Given the description of an element on the screen output the (x, y) to click on. 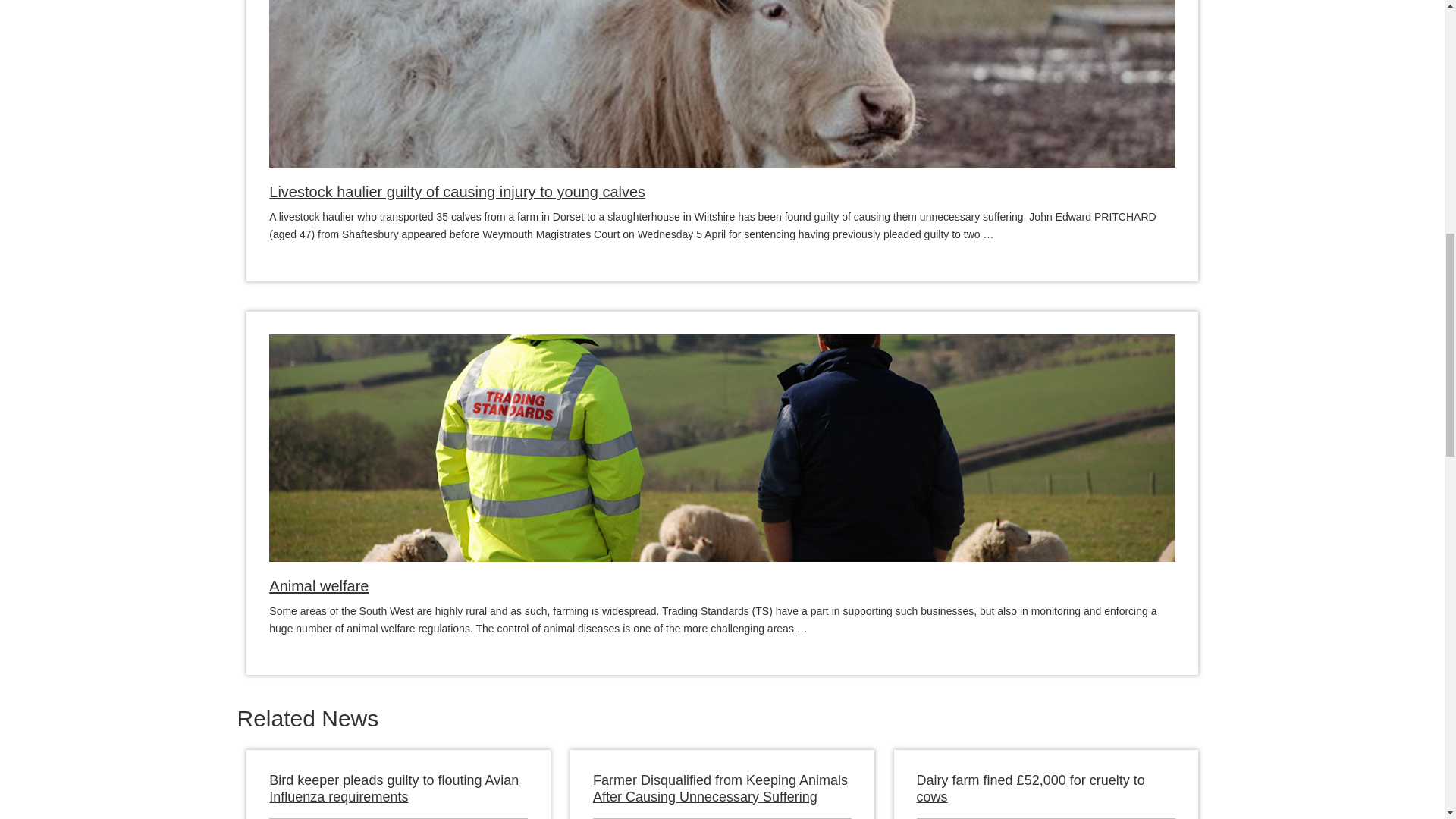
Livestock haulier guilty of causing injury to young calves (457, 191)
Permanent Link to Animal welfare (318, 586)
Animal welfare (318, 586)
